Given the description of an element on the screen output the (x, y) to click on. 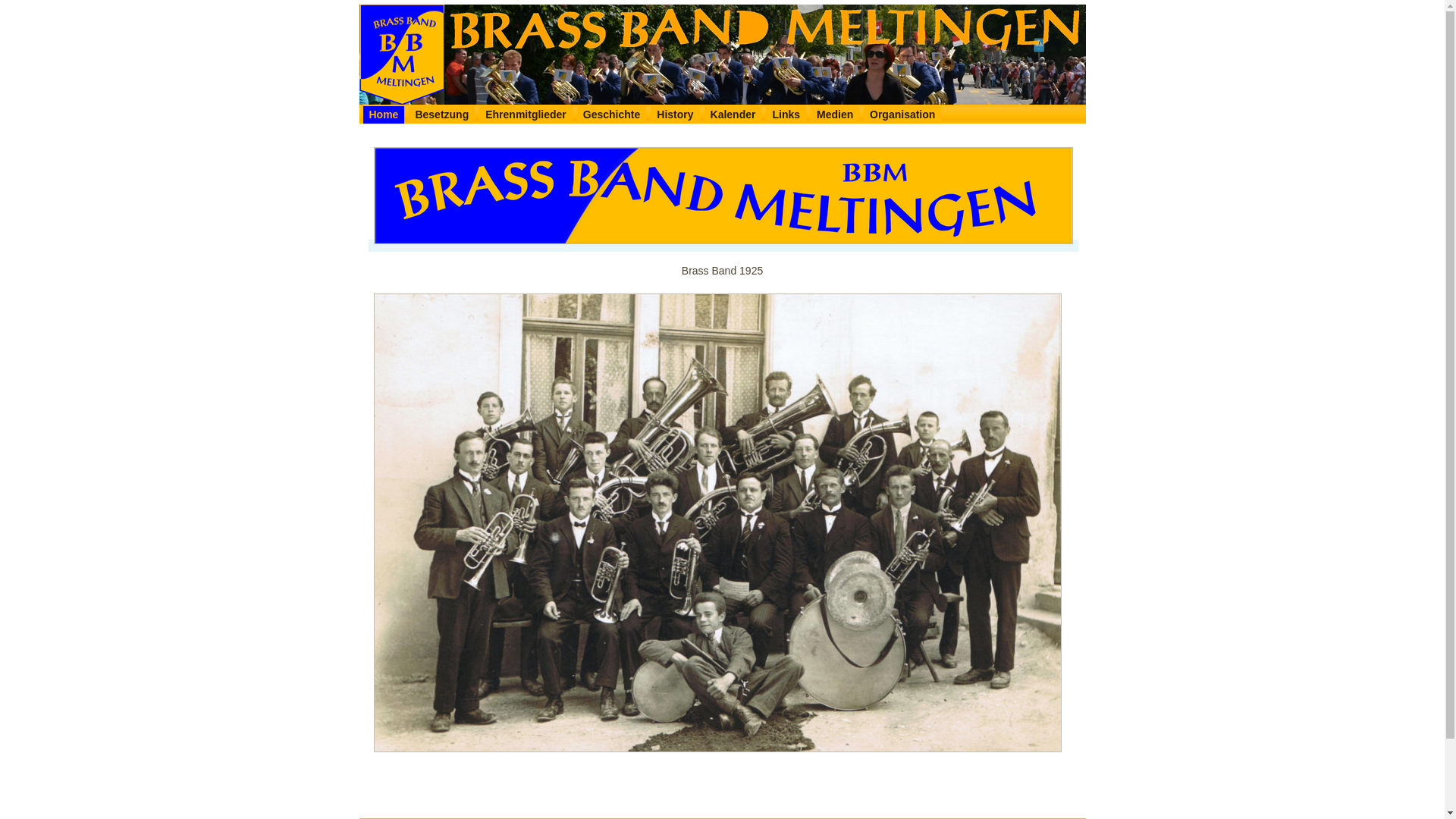
Ehrenmitglieder Element type: text (525, 114)
Medien Element type: text (834, 114)
Besetzung Element type: text (441, 114)
Kalender Element type: text (733, 114)
Organisation Element type: text (902, 114)
Geschichte Element type: text (611, 114)
History Element type: text (674, 114)
Home Element type: text (383, 114)
Links Element type: text (785, 114)
